Given the description of an element on the screen output the (x, y) to click on. 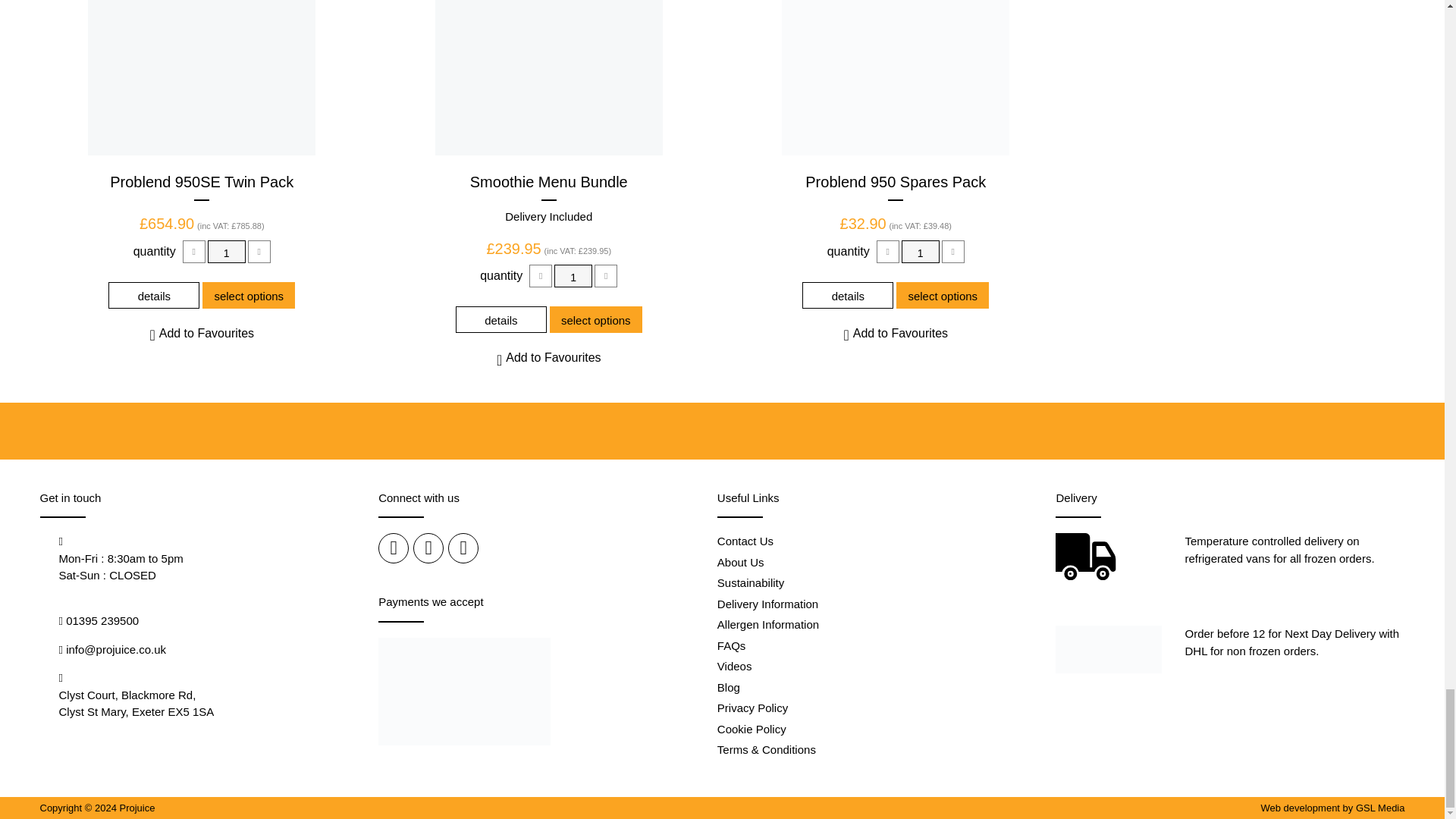
Problend 950SE Twin Pack (201, 77)
1 (227, 251)
Smoothie Menu Bundle (549, 77)
1 (573, 275)
Problend 950 Spares Pack (895, 77)
1 (920, 251)
Spares-pack-1 (895, 77)
SE TWIN (201, 77)
